Given the description of an element on the screen output the (x, y) to click on. 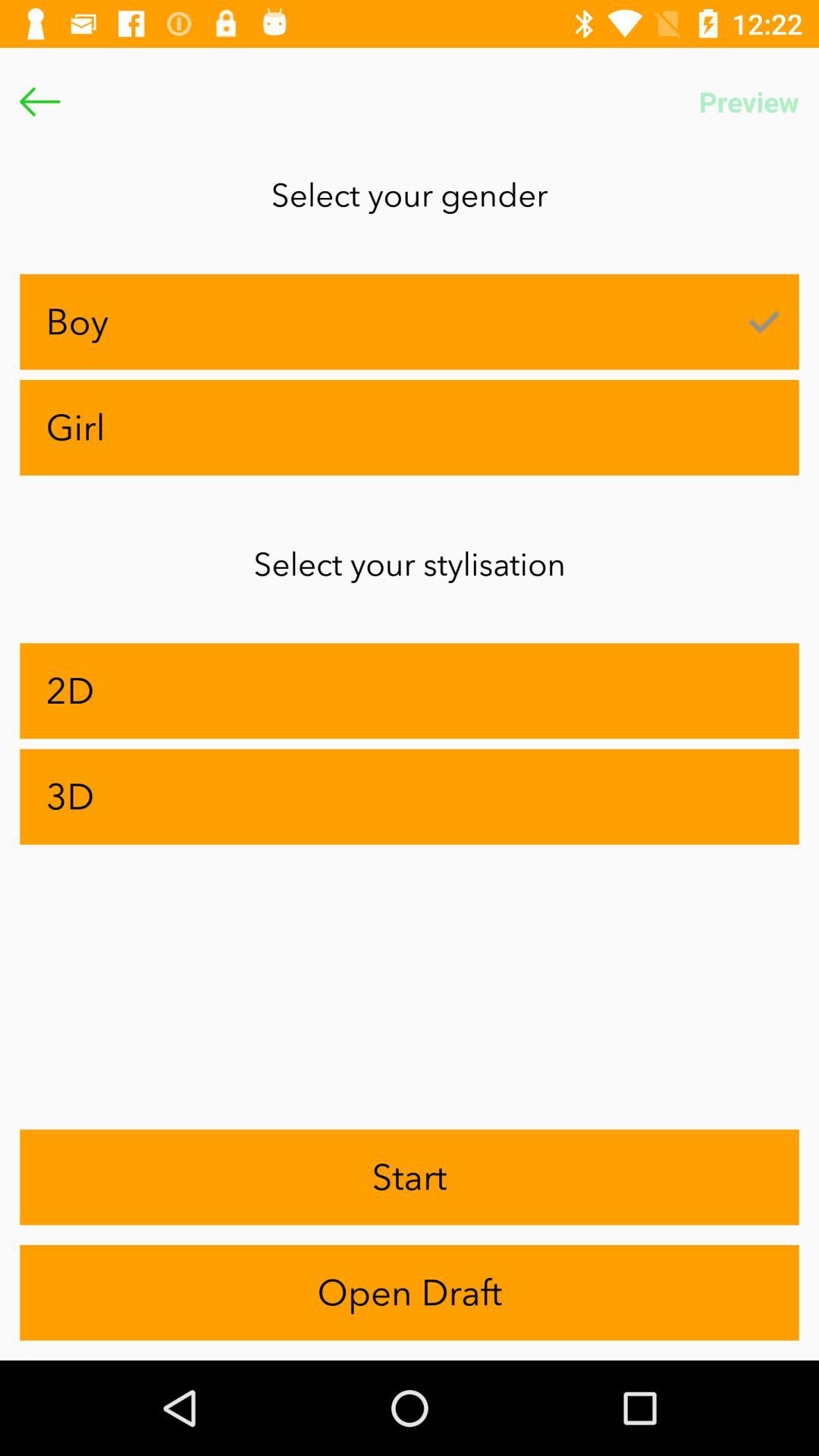
launch icon above select your gender app (749, 101)
